Given the description of an element on the screen output the (x, y) to click on. 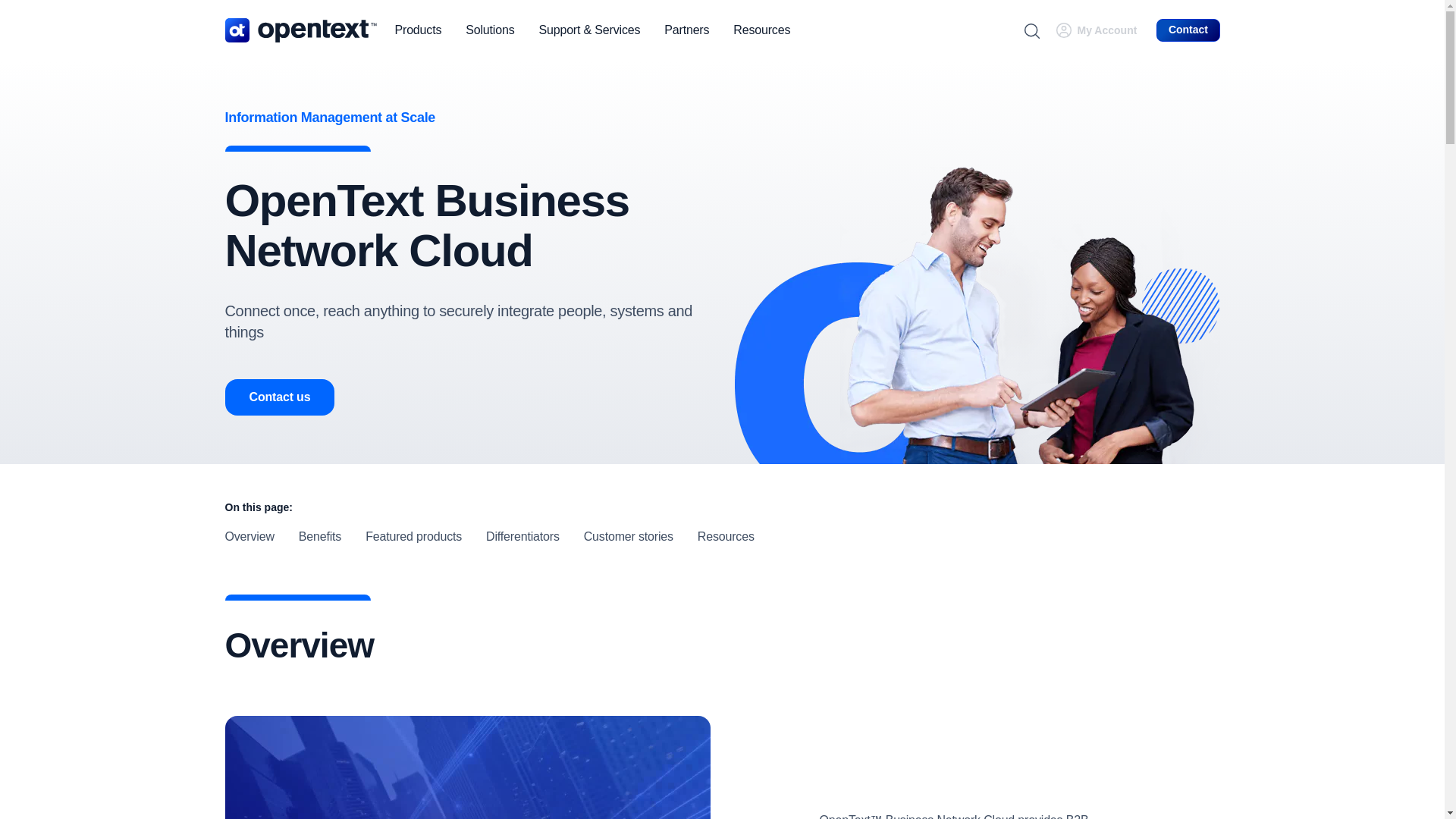
Opentext home page. (299, 30)
My Account (1107, 30)
